Given the description of an element on the screen output the (x, y) to click on. 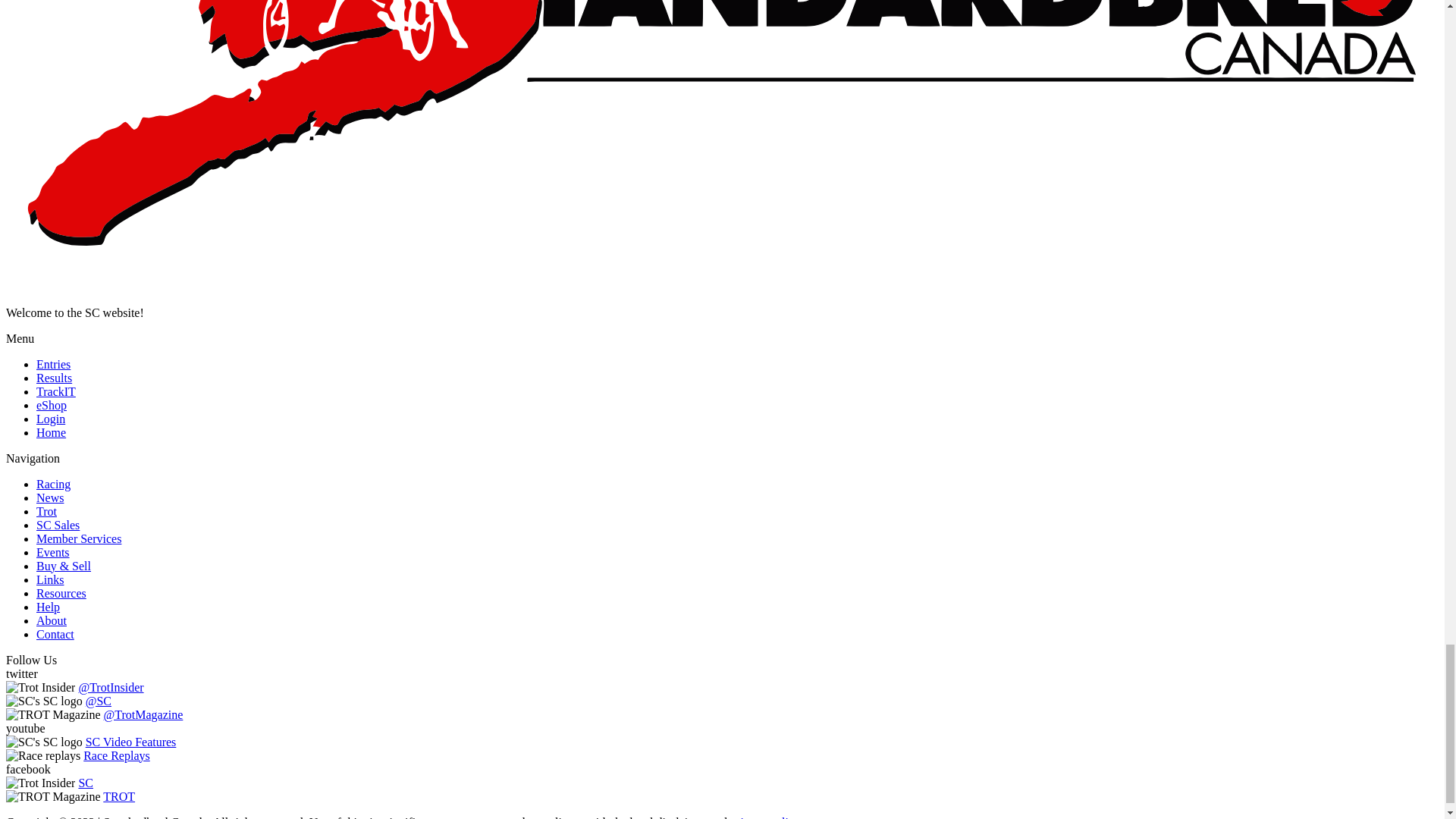
Homepage (50, 431)
